Given the description of an element on the screen output the (x, y) to click on. 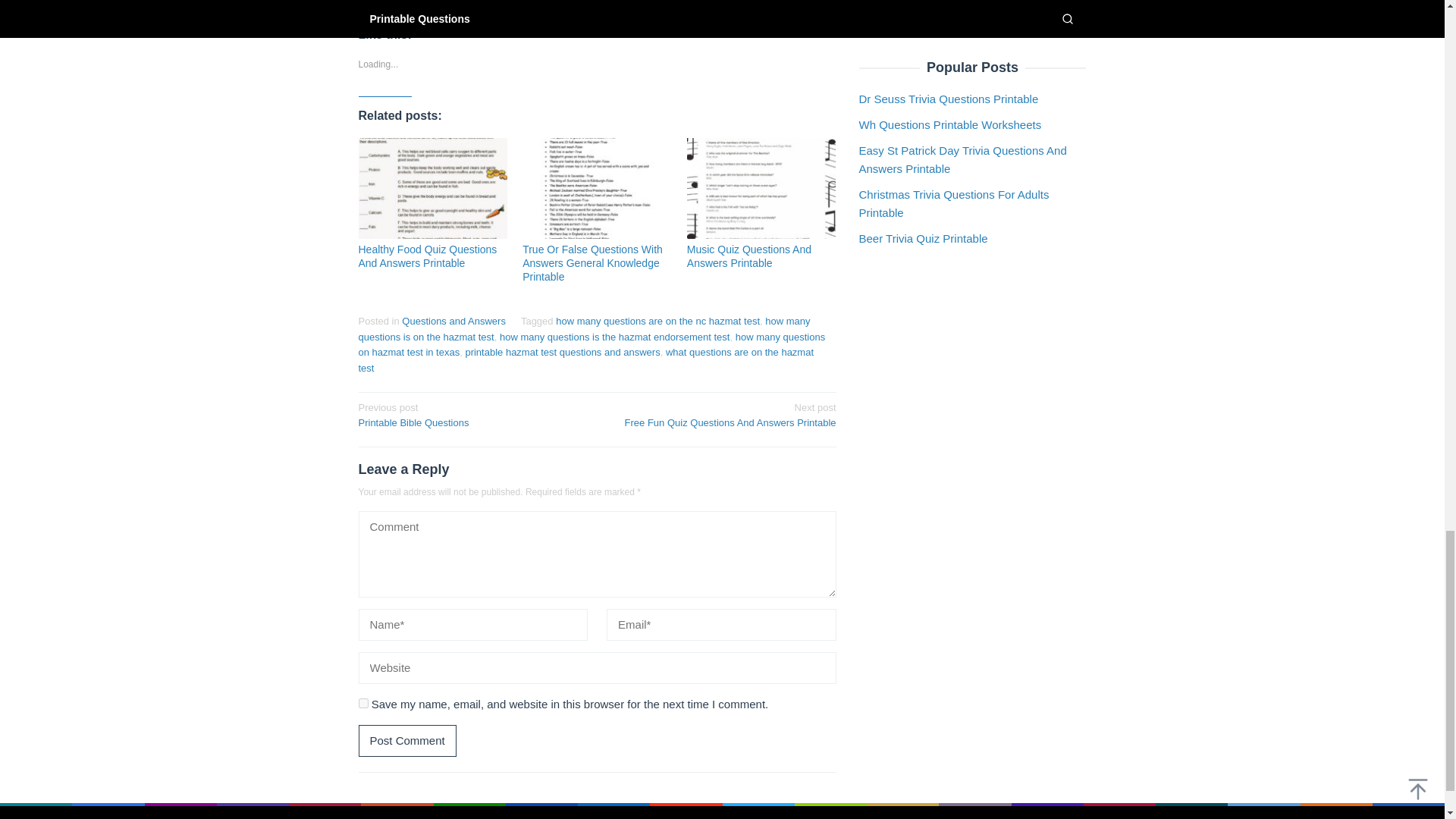
Questions and Answers (453, 320)
what questions are on the hazmat test (585, 359)
how many questions is the hazmat endorsement test (614, 337)
Post Comment (406, 740)
Healthy Food Quiz Questions And Answers Printable (427, 256)
Post Comment (406, 740)
Music Quiz Questions And Answers Printable (748, 256)
how many questions are on the nc hazmat test (658, 320)
